Given the description of an element on the screen output the (x, y) to click on. 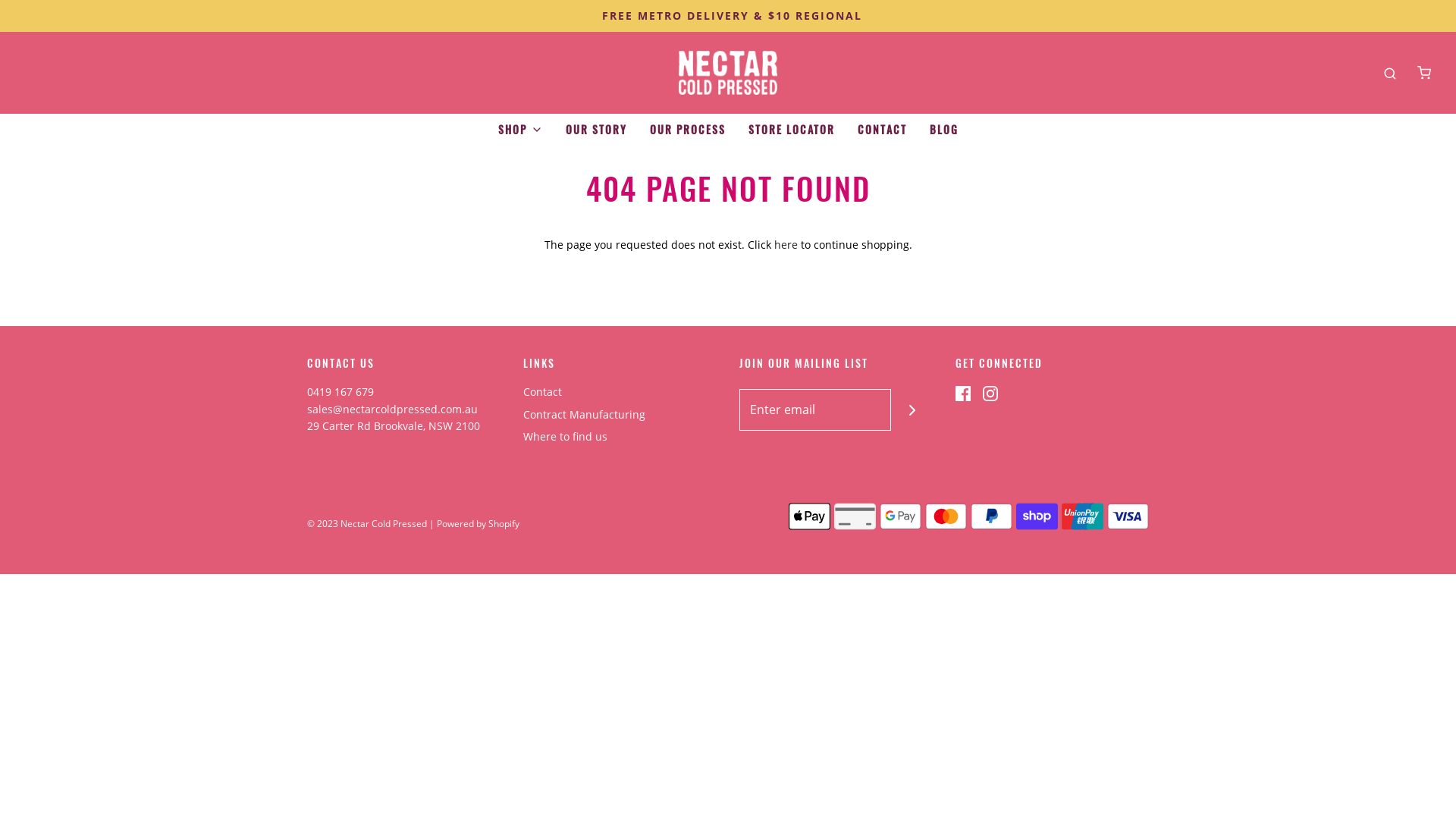
Cart Element type: hover (1424, 72)
OUR STORY Element type: text (596, 129)
Instagram icon Element type: text (989, 391)
Search Element type: hover (1389, 72)
Facebook icon Element type: text (962, 391)
CONTACT Element type: text (881, 129)
OUR PROCESS Element type: text (686, 129)
SHOP Element type: text (519, 129)
STORE LOCATOR Element type: text (790, 129)
Contract Manufacturing Element type: text (584, 417)
Powered by Shopify Element type: text (477, 523)
BLOG Element type: text (943, 129)
Where to find us Element type: text (565, 439)
here Element type: text (785, 244)
Contact Element type: text (542, 394)
